Given the description of an element on the screen output the (x, y) to click on. 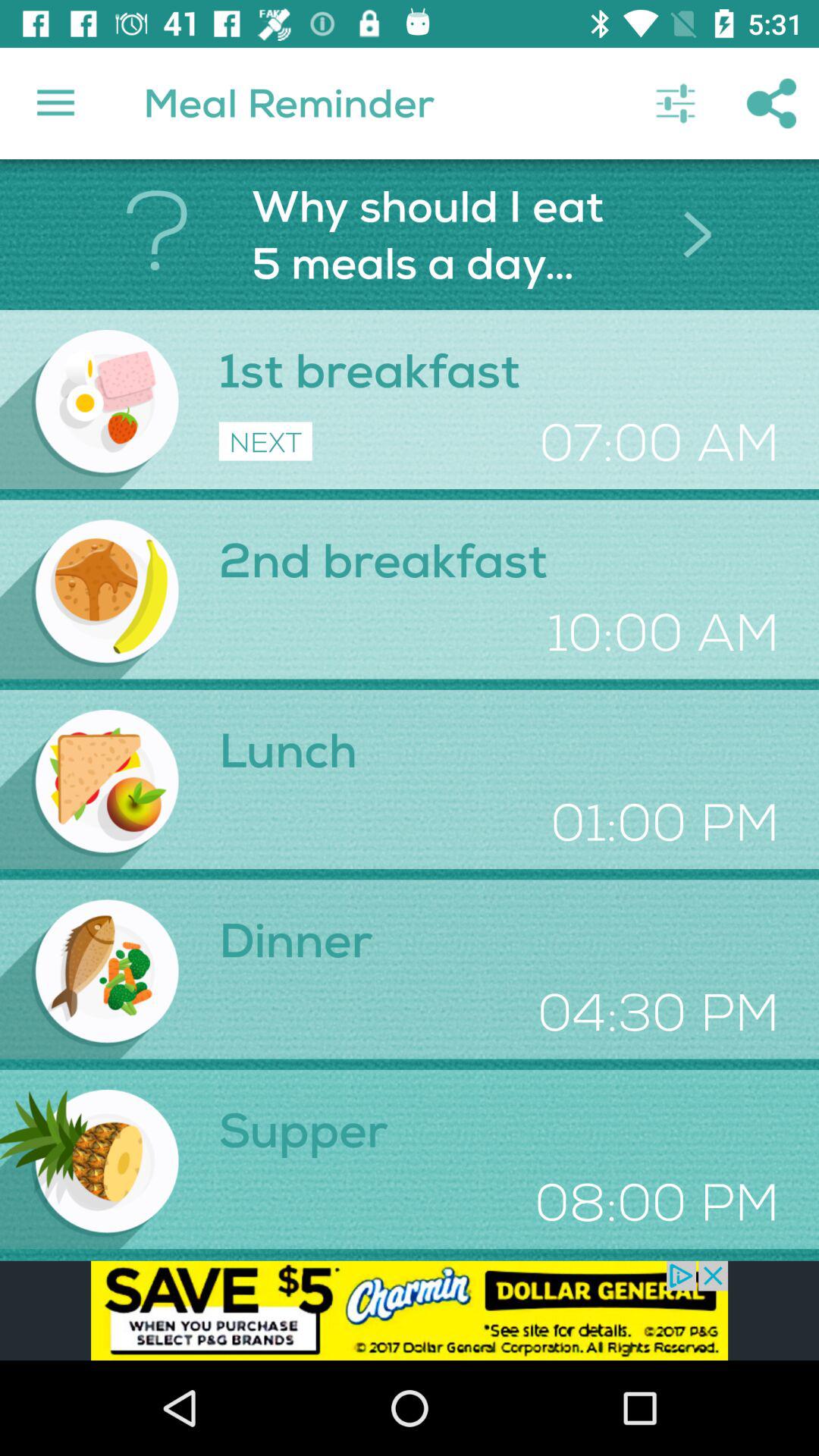
display advertisement (409, 1310)
